Given the description of an element on the screen output the (x, y) to click on. 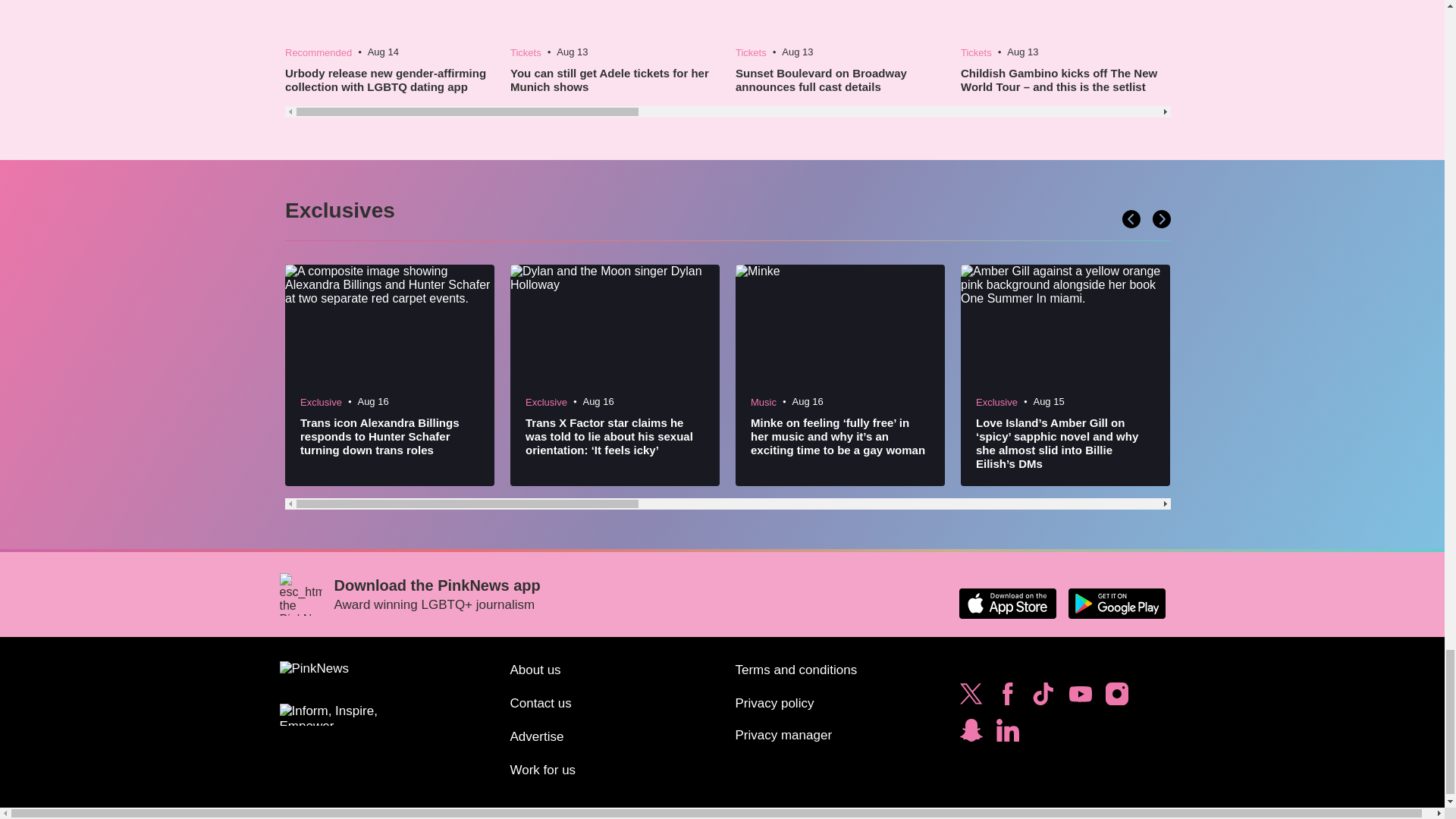
Download the PinkNews app on Google Play (1115, 603)
Follow PinkNews on Twitter (970, 697)
Follow PinkNews on TikTok (1042, 697)
Download the PinkNews app on the Apple App Store (1006, 603)
Follow PinkNews on Instagram (1116, 697)
Follow PinkNews on LinkedIn (1007, 733)
Subscribe to PinkNews on Snapchat (970, 733)
Subscribe to PinkNews on YouTube (1079, 697)
